Given the description of an element on the screen output the (x, y) to click on. 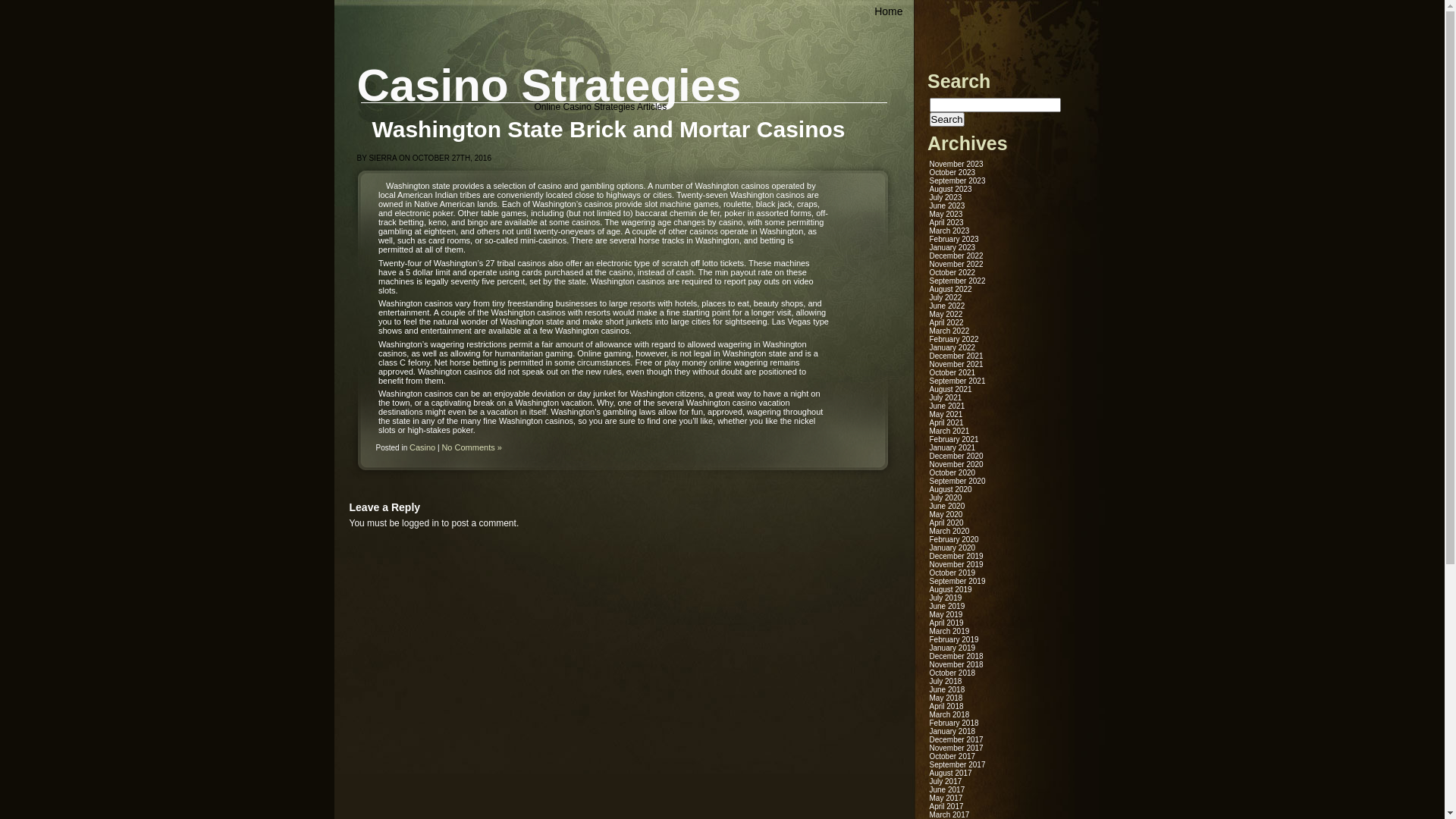
September 2019 Element type: text (957, 581)
November 2023 Element type: text (956, 164)
October 2020 Element type: text (952, 472)
June 2021 Element type: text (947, 405)
June 2017 Element type: text (947, 789)
March 2021 Element type: text (949, 430)
December 2018 Element type: text (956, 656)
January 2022 Element type: text (952, 347)
May 2023 Element type: text (946, 214)
October 2018 Element type: text (952, 672)
September 2017 Element type: text (957, 764)
June 2022 Element type: text (947, 305)
September 2022 Element type: text (957, 280)
June 2023 Element type: text (947, 205)
March 2019 Element type: text (949, 631)
February 2020 Element type: text (954, 539)
July 2017 Element type: text (945, 781)
August 2021 Element type: text (950, 389)
December 2020 Element type: text (956, 455)
October 2017 Element type: text (952, 756)
Casino Element type: text (422, 446)
February 2023 Element type: text (954, 239)
January 2018 Element type: text (952, 731)
March 2023 Element type: text (949, 230)
January 2021 Element type: text (952, 447)
November 2017 Element type: text (956, 747)
September 2023 Element type: text (957, 180)
Home Element type: text (888, 11)
July 2021 Element type: text (945, 397)
August 2023 Element type: text (950, 189)
January 2023 Element type: text (952, 247)
August 2017 Element type: text (950, 772)
June 2018 Element type: text (947, 689)
April 2023 Element type: text (946, 222)
April 2019 Element type: text (946, 622)
August 2022 Element type: text (950, 289)
September 2020 Element type: text (957, 480)
February 2018 Element type: text (954, 722)
July 2020 Element type: text (945, 497)
April 2020 Element type: text (946, 522)
May 2021 Element type: text (946, 414)
June 2019 Element type: text (947, 606)
Casino Strategies Element type: text (548, 84)
July 2023 Element type: text (945, 197)
November 2020 Element type: text (956, 464)
Search Element type: text (946, 119)
September 2021 Element type: text (957, 380)
December 2021 Element type: text (956, 355)
January 2020 Element type: text (952, 547)
May 2020 Element type: text (946, 514)
May 2019 Element type: text (946, 614)
August 2020 Element type: text (950, 489)
November 2022 Element type: text (956, 264)
April 2021 Element type: text (946, 422)
October 2023 Element type: text (952, 172)
November 2019 Element type: text (956, 564)
January 2019 Element type: text (952, 647)
March 2022 Element type: text (949, 330)
October 2021 Element type: text (952, 372)
June 2020 Element type: text (947, 506)
April 2017 Element type: text (946, 806)
August 2019 Element type: text (950, 589)
May 2017 Element type: text (946, 797)
July 2022 Element type: text (945, 297)
February 2021 Element type: text (954, 439)
December 2017 Element type: text (956, 739)
logged in Element type: text (420, 522)
July 2019 Element type: text (945, 597)
February 2022 Element type: text (954, 339)
April 2022 Element type: text (946, 322)
March 2018 Element type: text (949, 714)
November 2018 Element type: text (956, 664)
November 2021 Element type: text (956, 364)
July 2018 Element type: text (945, 681)
May 2018 Element type: text (946, 697)
April 2018 Element type: text (946, 706)
October 2022 Element type: text (952, 272)
May 2022 Element type: text (946, 314)
March 2020 Element type: text (949, 531)
October 2019 Element type: text (952, 572)
December 2022 Element type: text (956, 255)
February 2019 Element type: text (954, 639)
December 2019 Element type: text (956, 556)
